Given the description of an element on the screen output the (x, y) to click on. 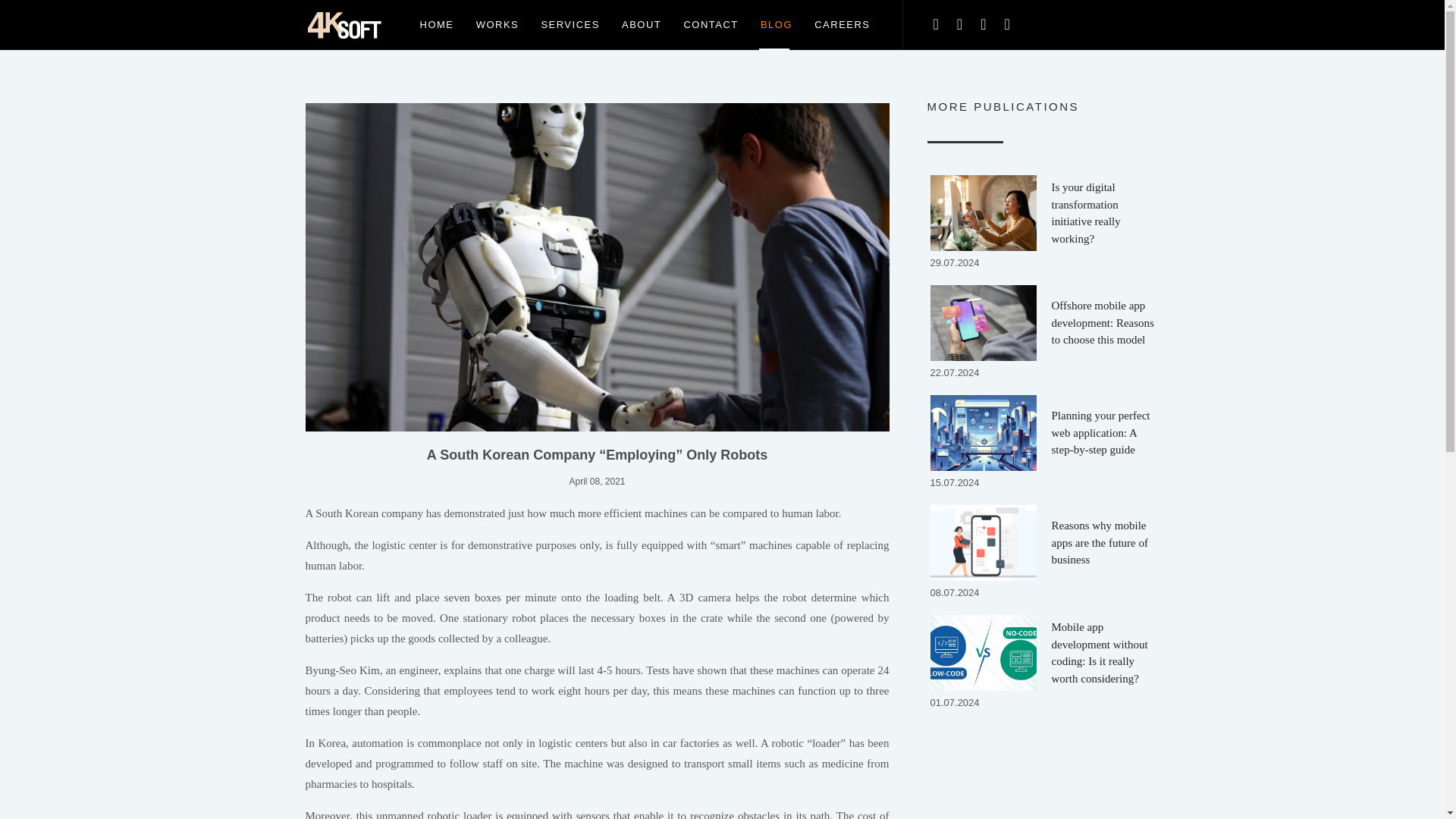
BLOG (776, 24)
CONTACT (710, 24)
4K-SOFT (344, 24)
HOME (436, 24)
Is your digital transformation initiative really working? (1042, 212)
ABOUT (640, 24)
Reasons why mobile apps are the future of business (1042, 542)
SERVICES (569, 24)
Planning your perfect web application: A step-by-step guide (1042, 432)
WORKS (497, 24)
CAREERS (842, 24)
